Given the description of an element on the screen output the (x, y) to click on. 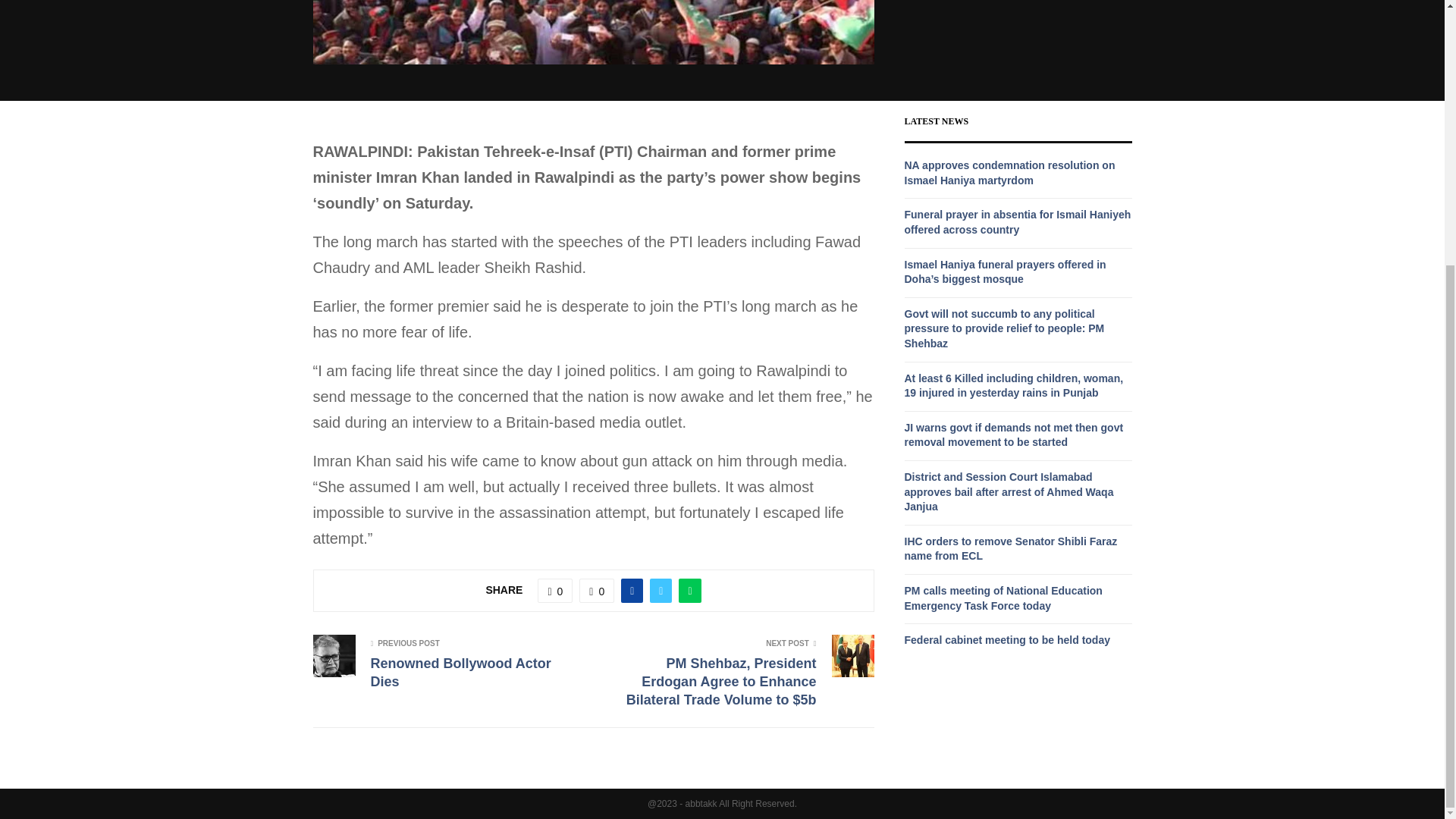
0 (554, 590)
Like (554, 590)
